Given the description of an element on the screen output the (x, y) to click on. 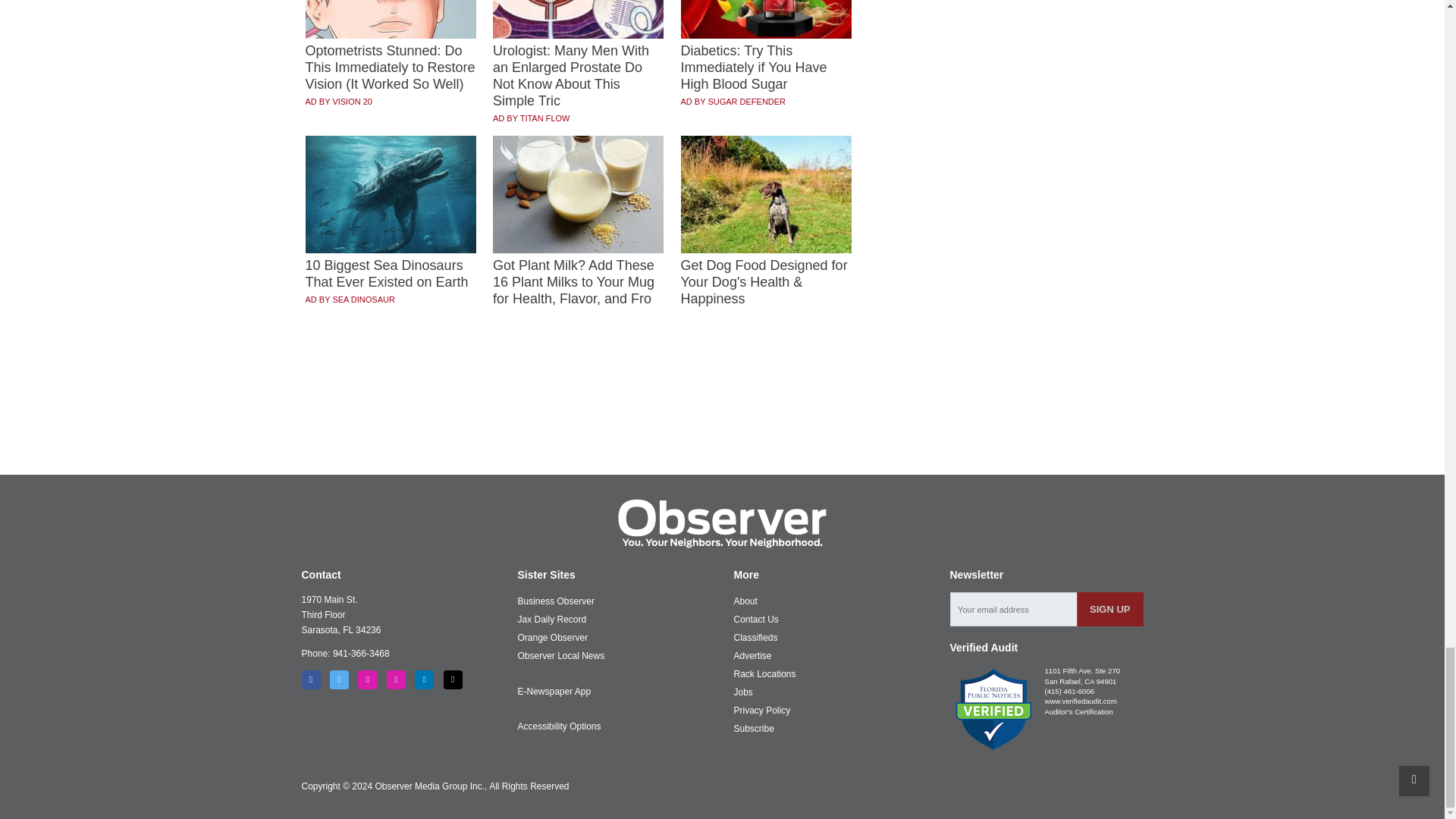
3rd party ad content (722, 418)
